Given the description of an element on the screen output the (x, y) to click on. 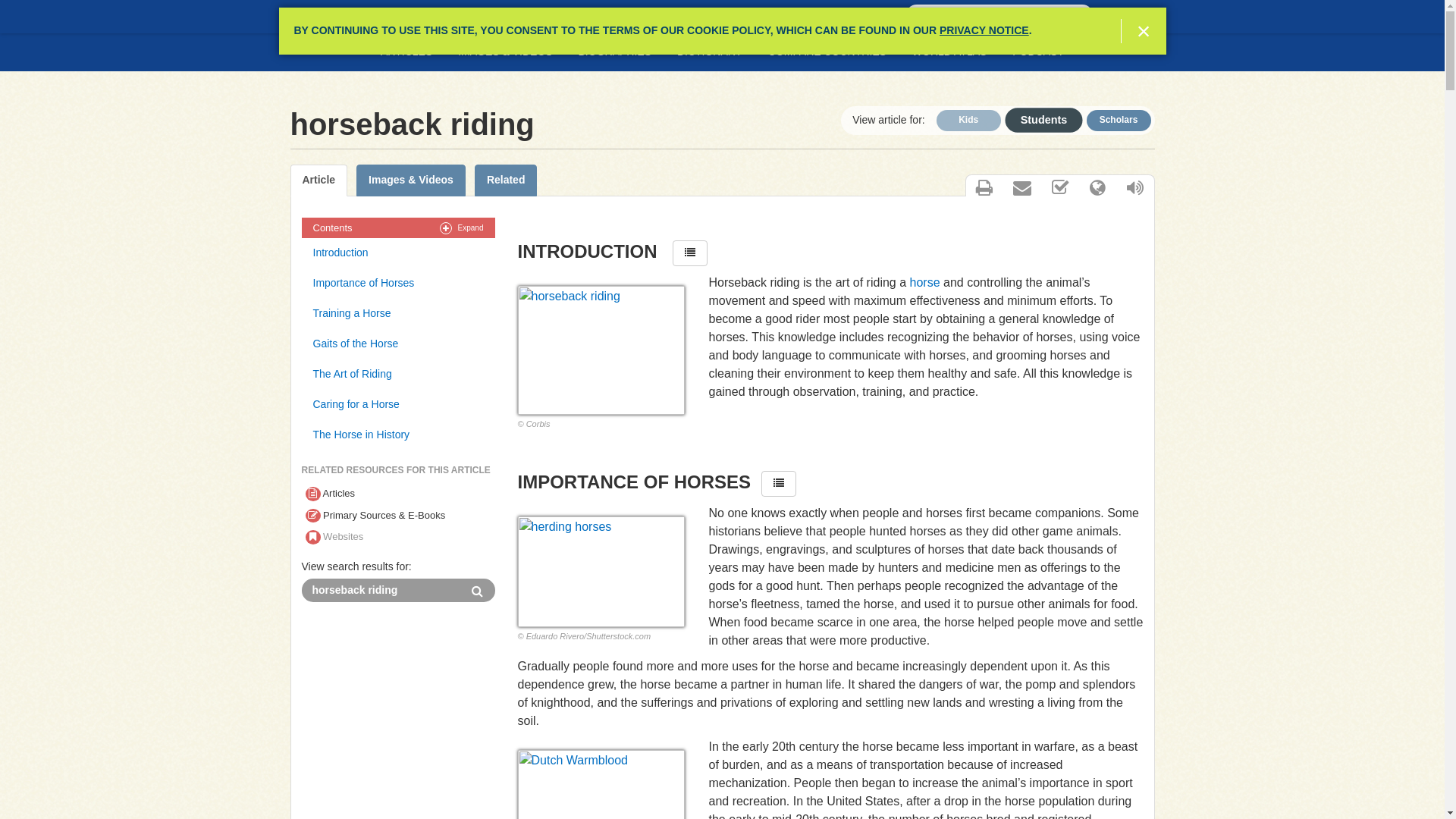
Table of Contents (778, 483)
herding horses (600, 571)
Table of Contents (689, 253)
horseback riding (600, 349)
horseback riding (381, 589)
Dutch Warmblood (600, 784)
horseback riding (381, 589)
STUDENTS (336, 16)
Grades 6-8 (1036, 118)
Grade 9 and Up (1118, 119)
